Given the description of an element on the screen output the (x, y) to click on. 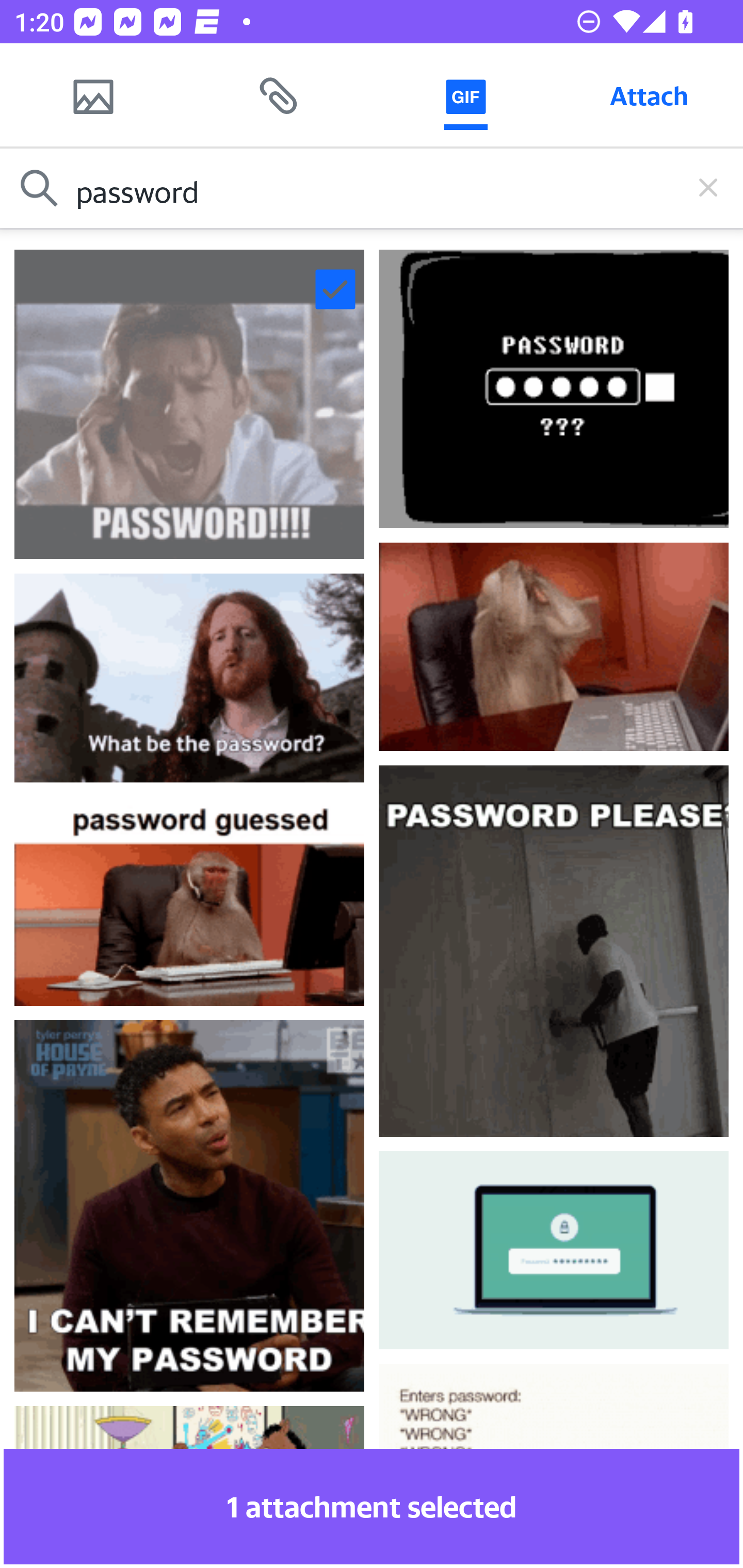
Camera photos (93, 95)
Recent attachments from mail (279, 95)
GIFs (465, 95)
Attach (649, 95)
password (371, 187)
1 attachment selected (371, 1506)
